Given the description of an element on the screen output the (x, y) to click on. 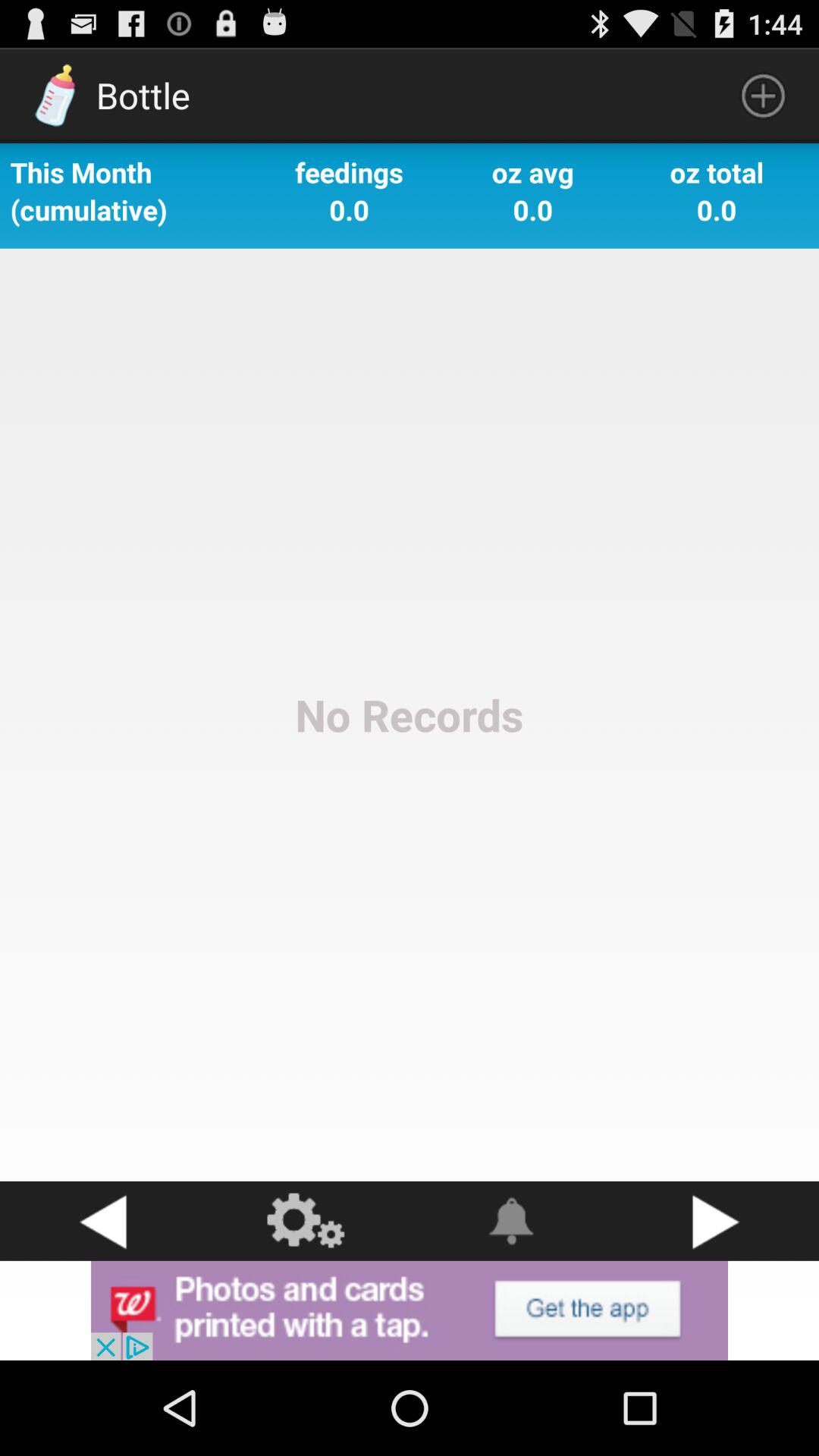
go to settings (306, 1220)
